Given the description of an element on the screen output the (x, y) to click on. 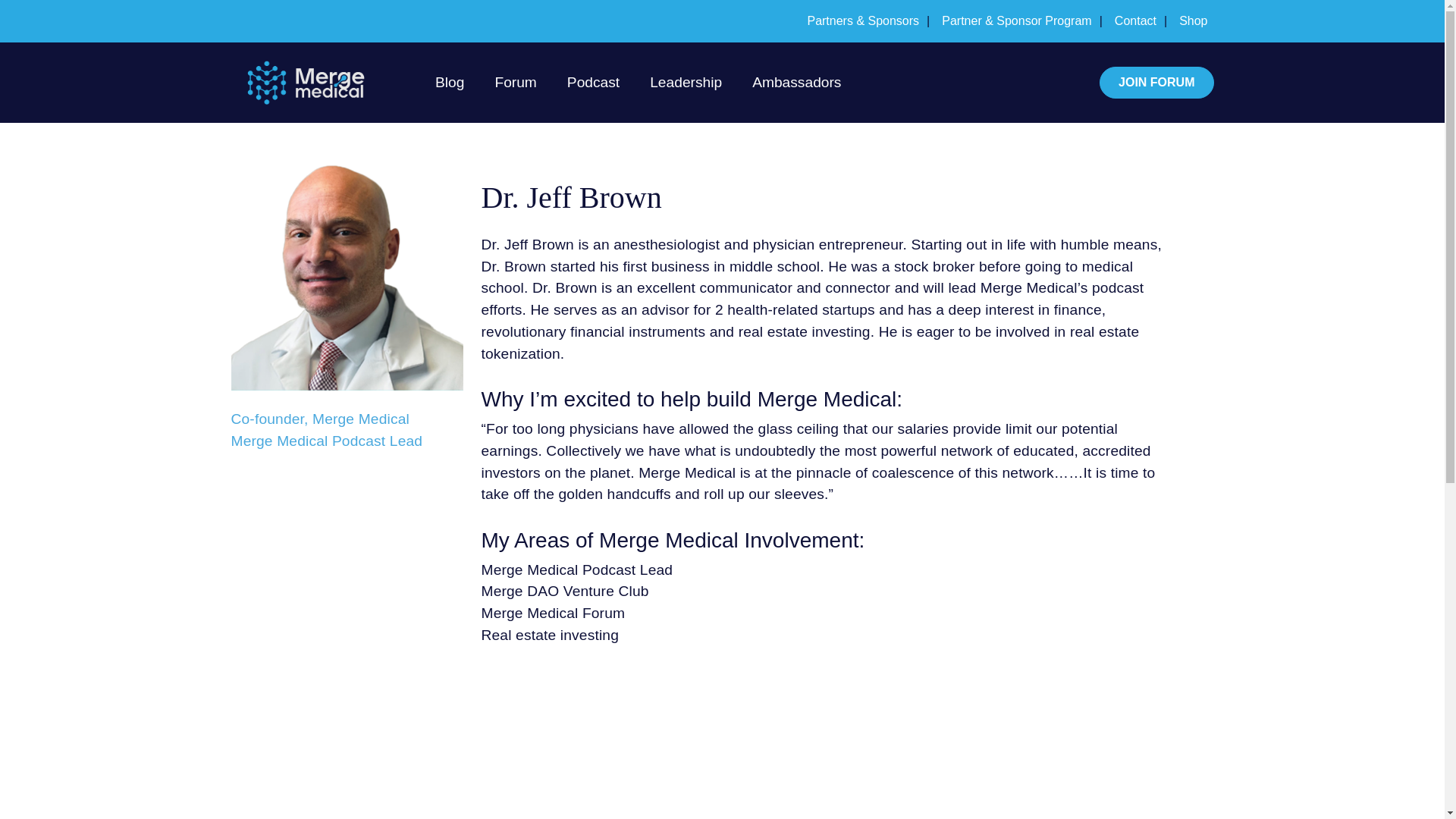
Blog (449, 82)
Podcast (593, 82)
Ambassadors (796, 82)
Contact (1140, 20)
Shop (1192, 20)
Leadership (685, 82)
Forum (514, 82)
JOIN FORUM (1155, 82)
